Given the description of an element on the screen output the (x, y) to click on. 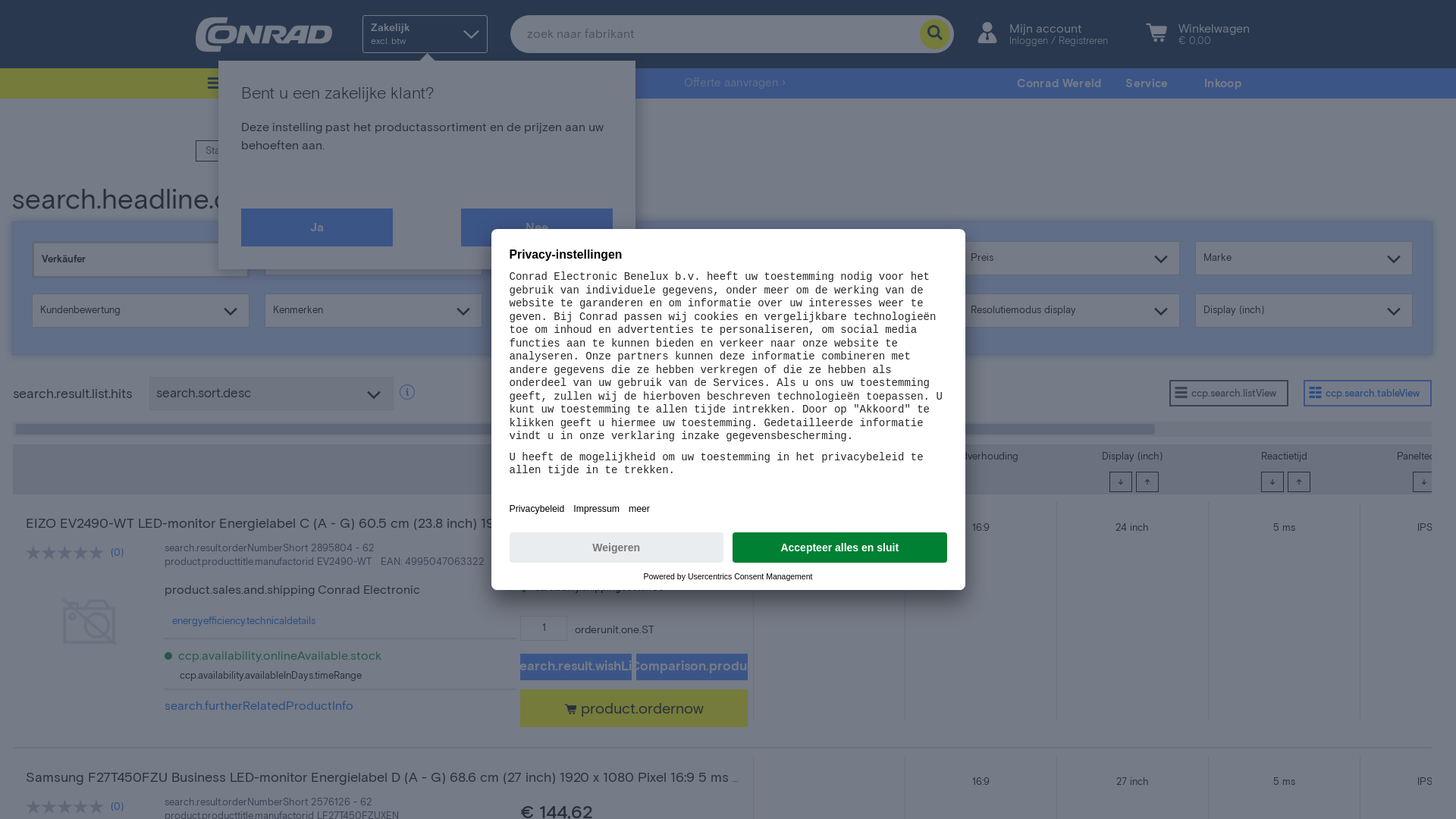
__desc Element type: text (1423, 481)
cart.bulky.shippingcostsfree Element type: text (592, 587)
Zakelijk
excl. btw Element type: text (424, 34)
search.result.wishList Element type: text (575, 666)
Service Element type: text (1146, 83)
Onze producten Element type: text (266, 83)
__asc Element type: text (1298, 481)
productComparison.productList.add Element type: text (691, 666)
__desc Element type: text (1120, 481)
__desc Element type: text (1272, 481)
Conrad Wereld Element type: text (1059, 83)
Start Element type: text (215, 150)
product.ordernow Element type: text (633, 708)
energyefficiency.technicaldetails Element type: text (243, 621)
search.furtherRelatedProductInfo Element type: text (258, 711)
__asc Element type: text (1146, 481)
Inkoop Element type: text (1222, 83)
Mijn account
Inloggen / Registreren Element type: text (1053, 34)
